Given the description of an element on the screen output the (x, y) to click on. 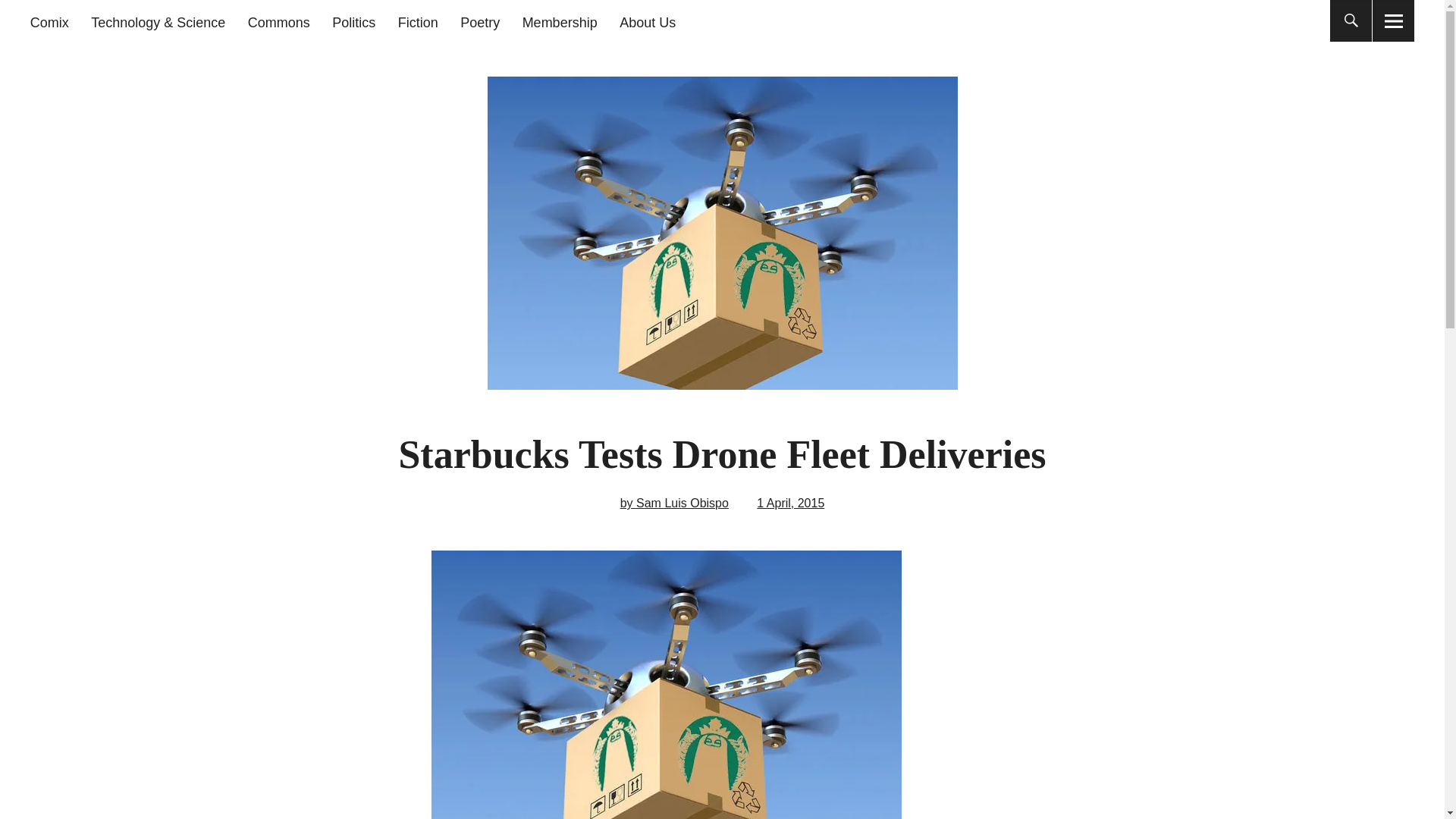
The Seattle Star (230, 112)
1 April, 2015 (790, 502)
Fiction (417, 22)
About Us (647, 22)
Commons (278, 22)
Politics (353, 22)
Search (692, 19)
by Sam Luis Obispo (674, 502)
Poetry (479, 22)
Comix (49, 22)
